Given the description of an element on the screen output the (x, y) to click on. 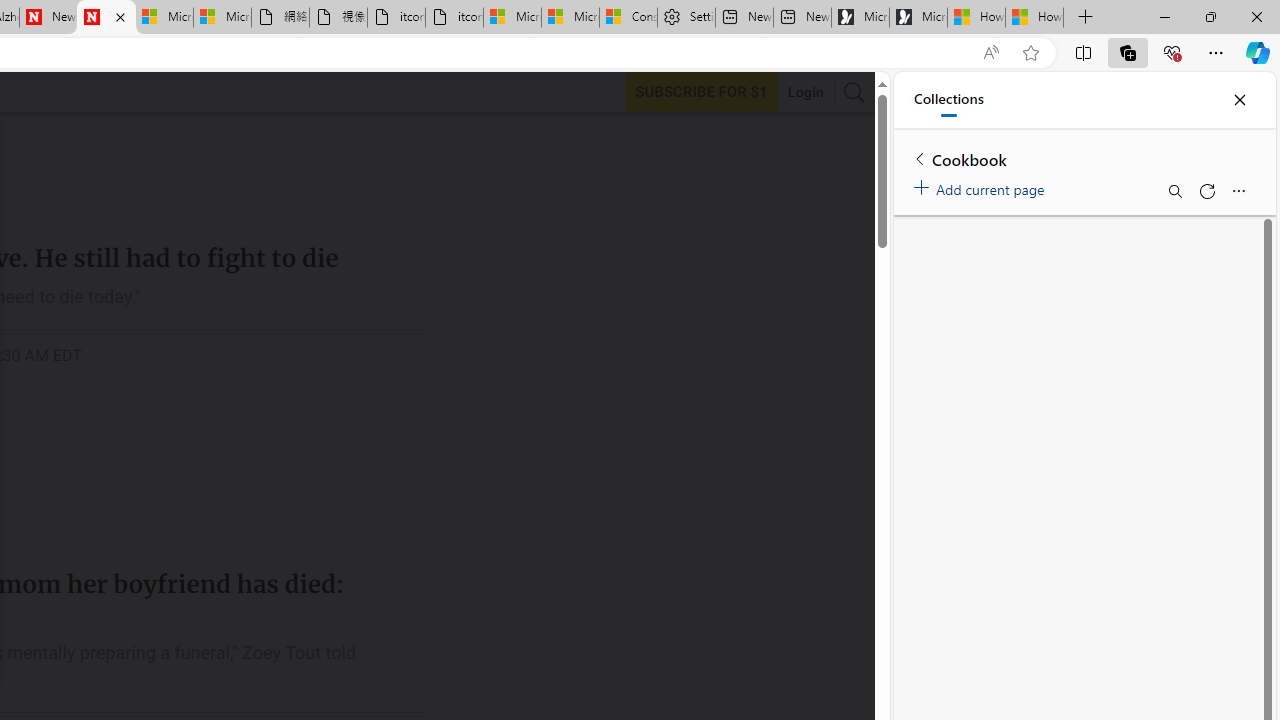
How to Use a TV as a Computer Monitor (1034, 17)
Add current page (982, 186)
itconcepthk.com/projector_solutions.mp4 (454, 17)
AutomationID: search-btn (854, 92)
Login (805, 92)
Back to list of collections (920, 158)
